Given the description of an element on the screen output the (x, y) to click on. 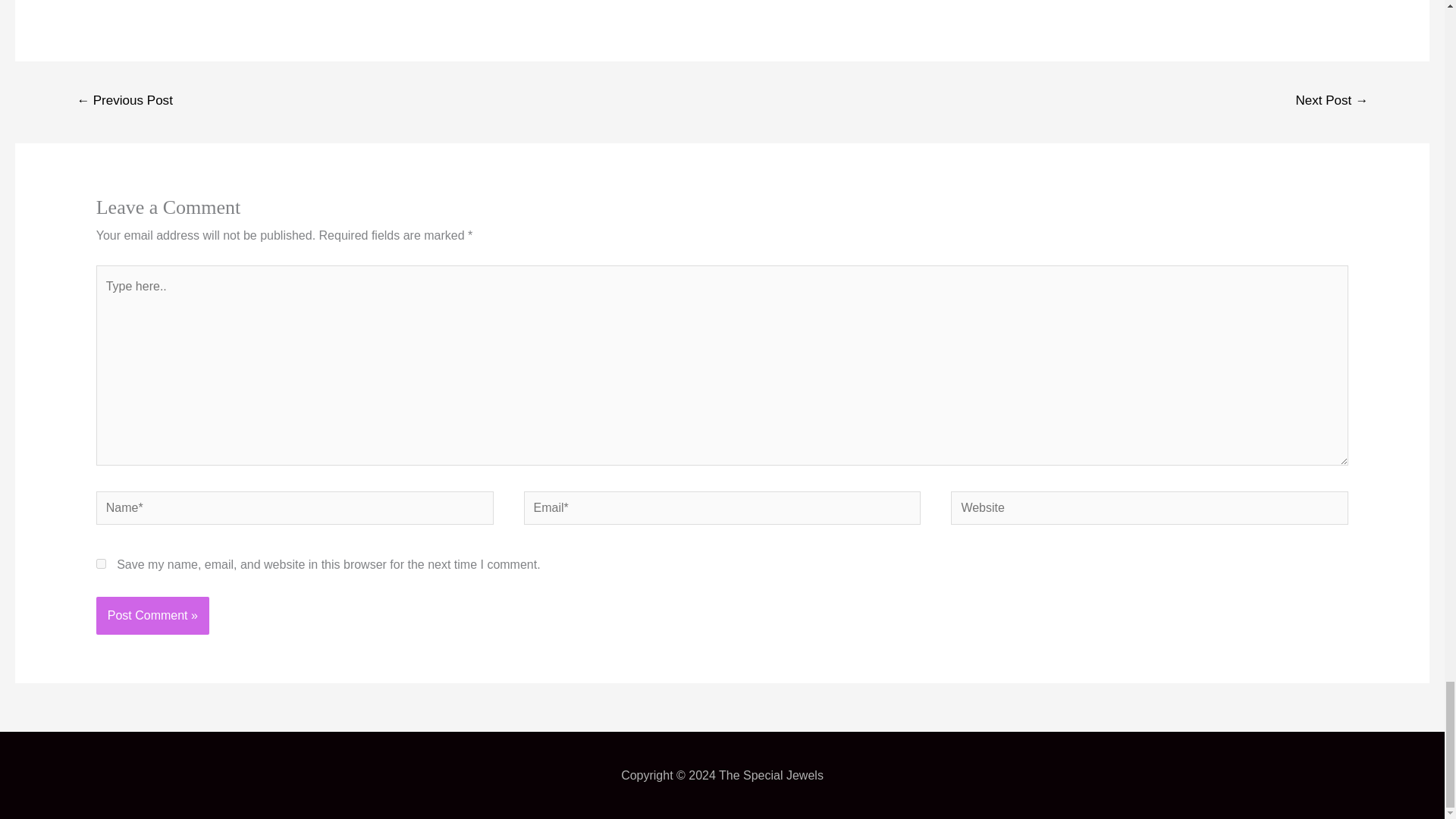
yes (101, 563)
